Given the description of an element on the screen output the (x, y) to click on. 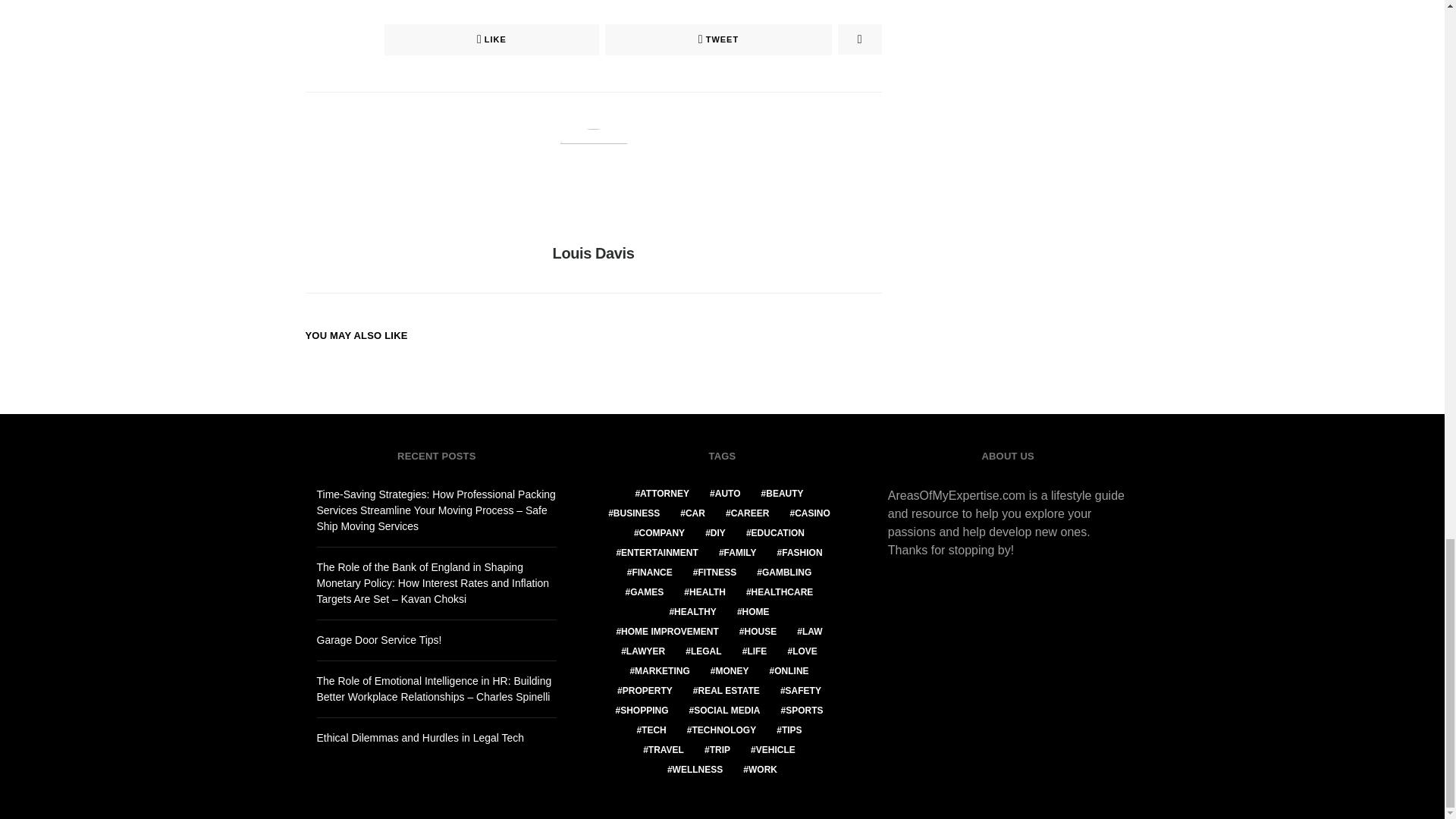
TWEET (718, 39)
LIKE (491, 39)
Louis Davis (593, 252)
